Given the description of an element on the screen output the (x, y) to click on. 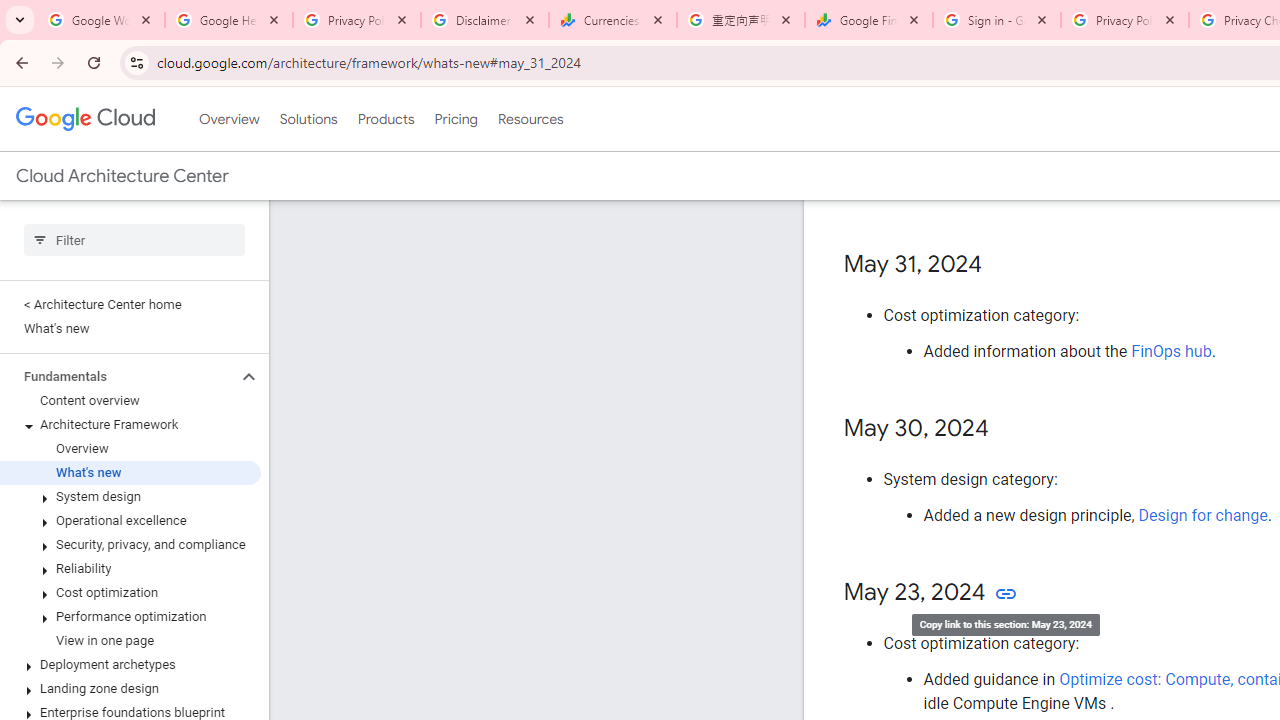
Content overview (130, 400)
Copy link to this section: May 30, 2024 (1008, 429)
Operational excellence (130, 520)
Security, privacy, and compliance (130, 544)
Cost optimization (130, 592)
Fundamentals (118, 376)
Landing zone design (130, 688)
< Architecture Center home (130, 304)
Cloud Architecture Center (122, 175)
Design for change (1202, 515)
What's new (130, 472)
